Given the description of an element on the screen output the (x, y) to click on. 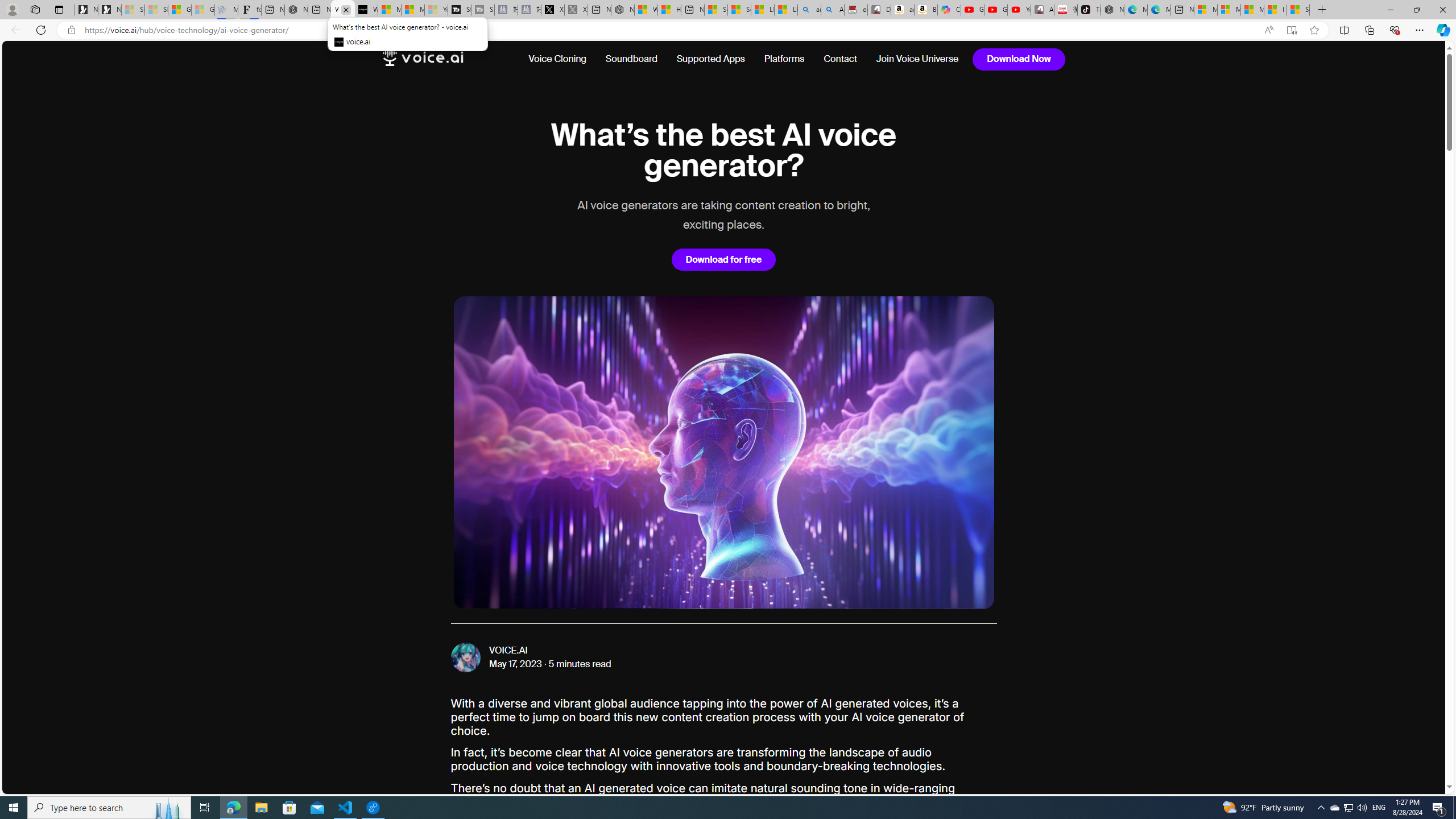
amazon.in/dp/B0CX59H5W7/?tag=gsmcom05-21 (902, 9)
